Given the description of an element on the screen output the (x, y) to click on. 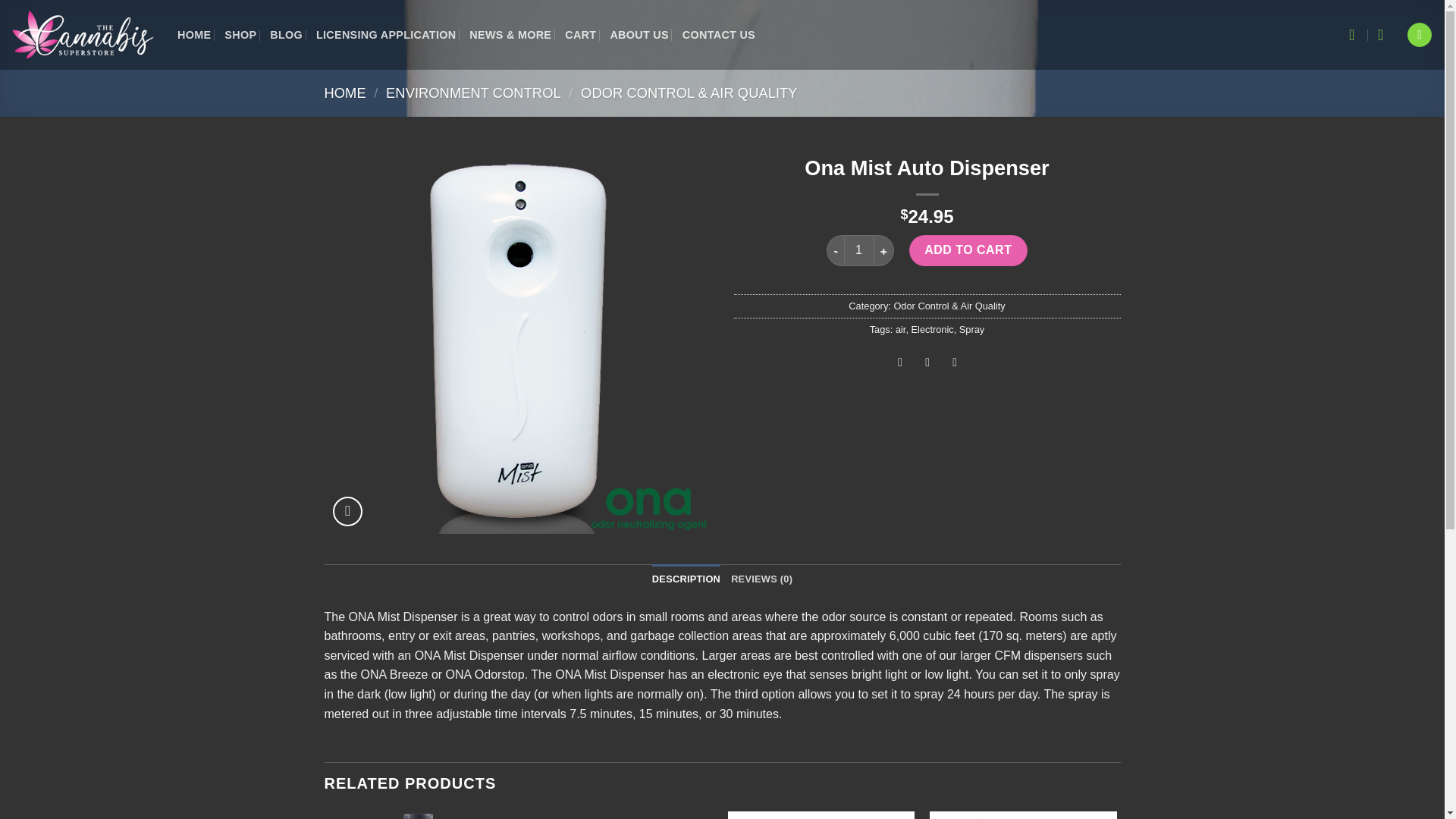
CONTACT US (718, 35)
1 (859, 250)
ENVIRONMENT CONTROL (472, 92)
HOME (345, 92)
Cart (1385, 34)
- (835, 250)
Spray (971, 328)
Electronic (932, 328)
BLOG (285, 35)
air (900, 328)
HOME (194, 35)
The Cannabis Superstore (82, 34)
SHOP (240, 35)
CART (579, 35)
